Given the description of an element on the screen output the (x, y) to click on. 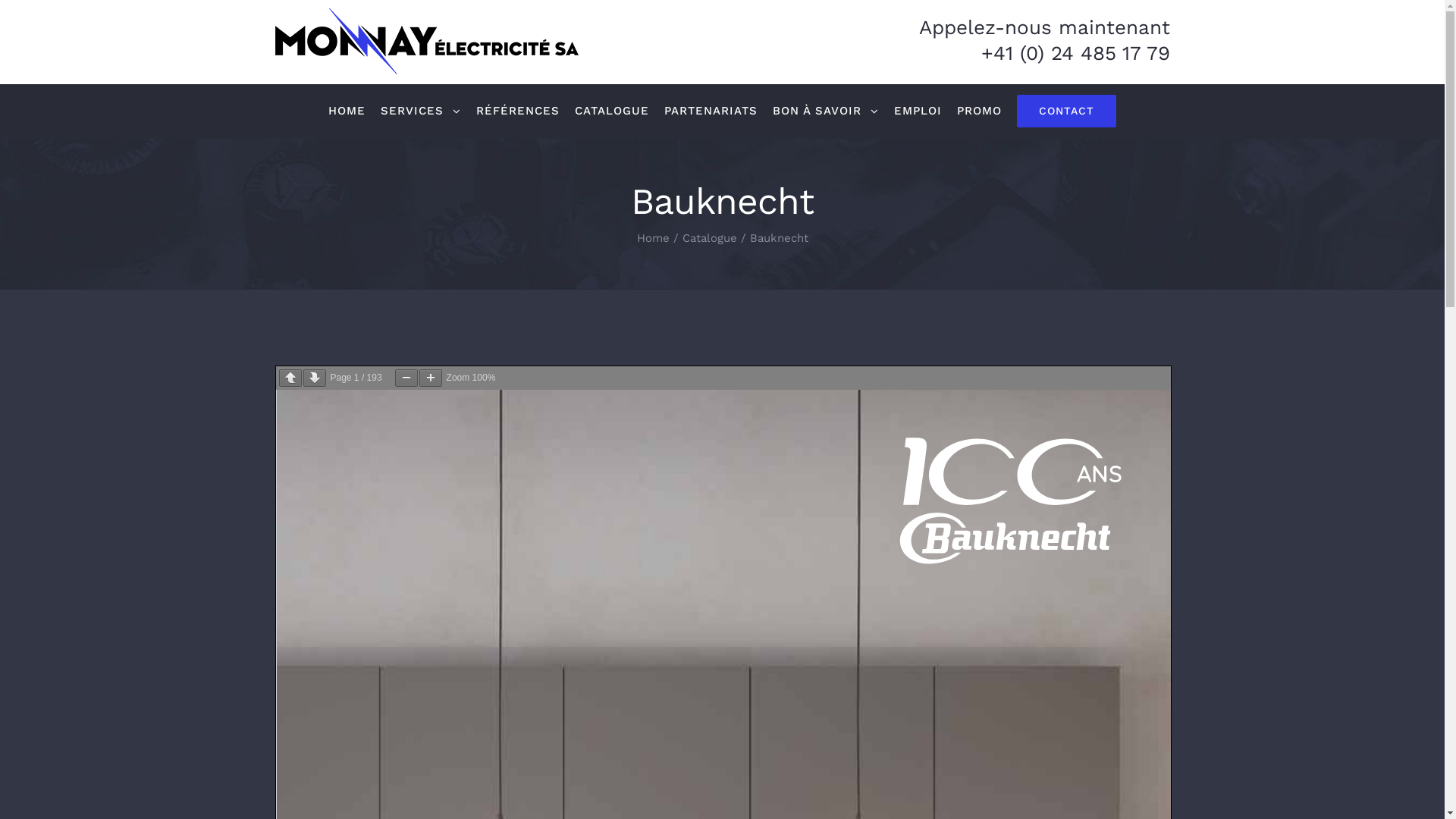
PROMO Element type: text (979, 110)
CATALOGUE Element type: text (611, 110)
EMPLOI Element type: text (917, 110)
SERVICES Element type: text (420, 110)
Page suivante Element type: hover (314, 377)
HOME Element type: text (346, 110)
Catalogue Element type: text (709, 237)
CONTACT Element type: text (1066, 110)
Home Element type: text (653, 237)
PARTENARIATS Element type: text (710, 110)
Zoomer Element type: hover (430, 377)
